Given the description of an element on the screen output the (x, y) to click on. 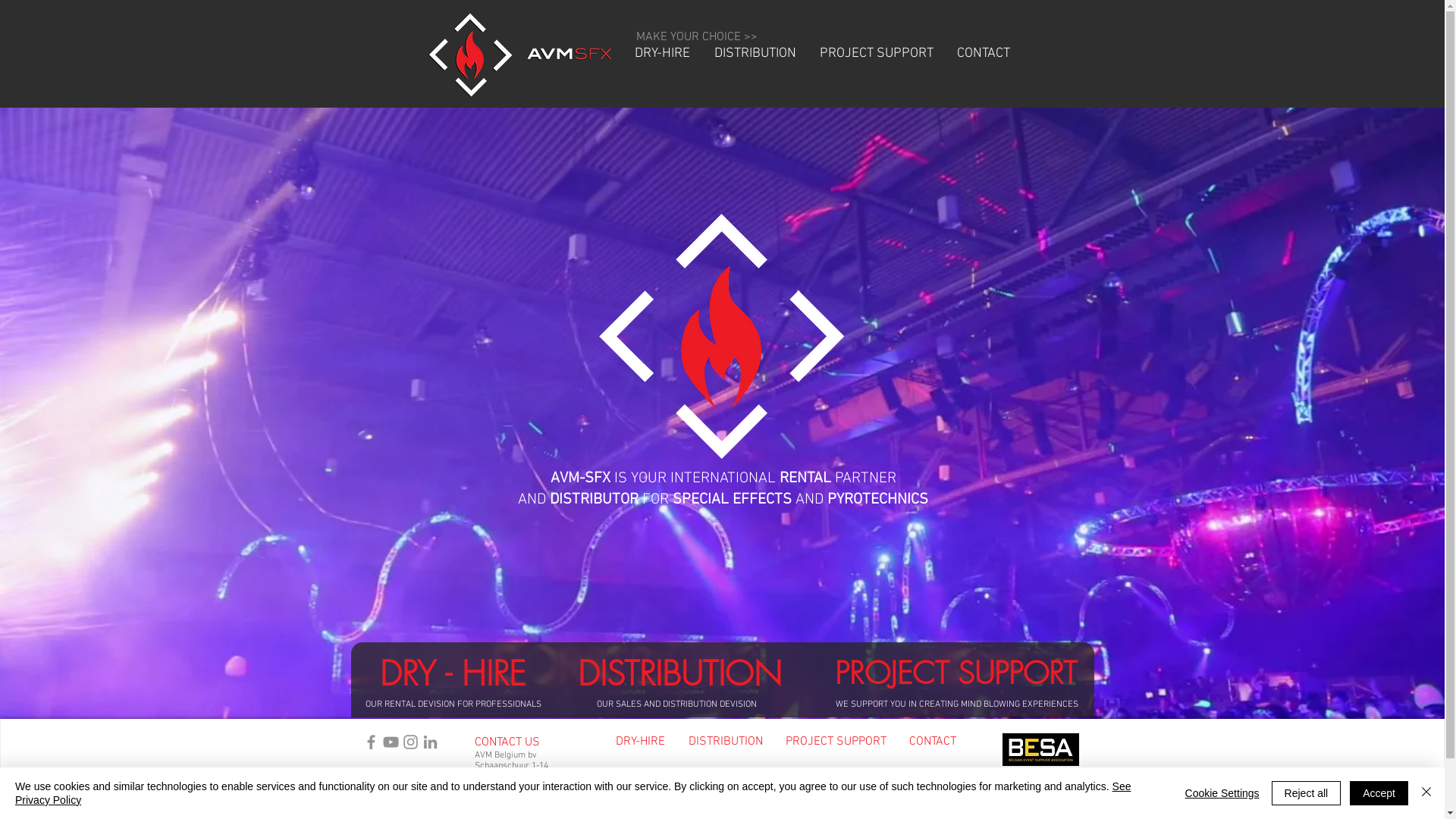
CONTACT Element type: text (982, 52)
DISTRIBUTION Element type: text (755, 52)
See Privacy Policy Element type: text (572, 793)
Reject all Element type: text (1306, 793)
Privacy policy Element type: text (387, 797)
Accept Element type: text (1378, 793)
DRY-HIRE Element type: text (661, 52)
Algemene voorwaarden Element type: text (405, 781)
info@avm-sfx.com Element type: text (511, 797)
CONTACT US Element type: text (506, 741)
DISTRIBUTION Element type: text (679, 672)
DRY - HIRE Element type: text (452, 672)
PROJECT SUPPORT Element type: text (956, 672)
PROJECT SUPPORT Element type: text (835, 741)
DISTRIBUTION Element type: text (724, 741)
PROJECT SUPPORT Element type: text (876, 52)
CONTACT Element type: text (932, 741)
BESA Member Element type: hover (1040, 749)
DRY-HIRE Element type: text (639, 741)
